Given the description of an element on the screen output the (x, y) to click on. 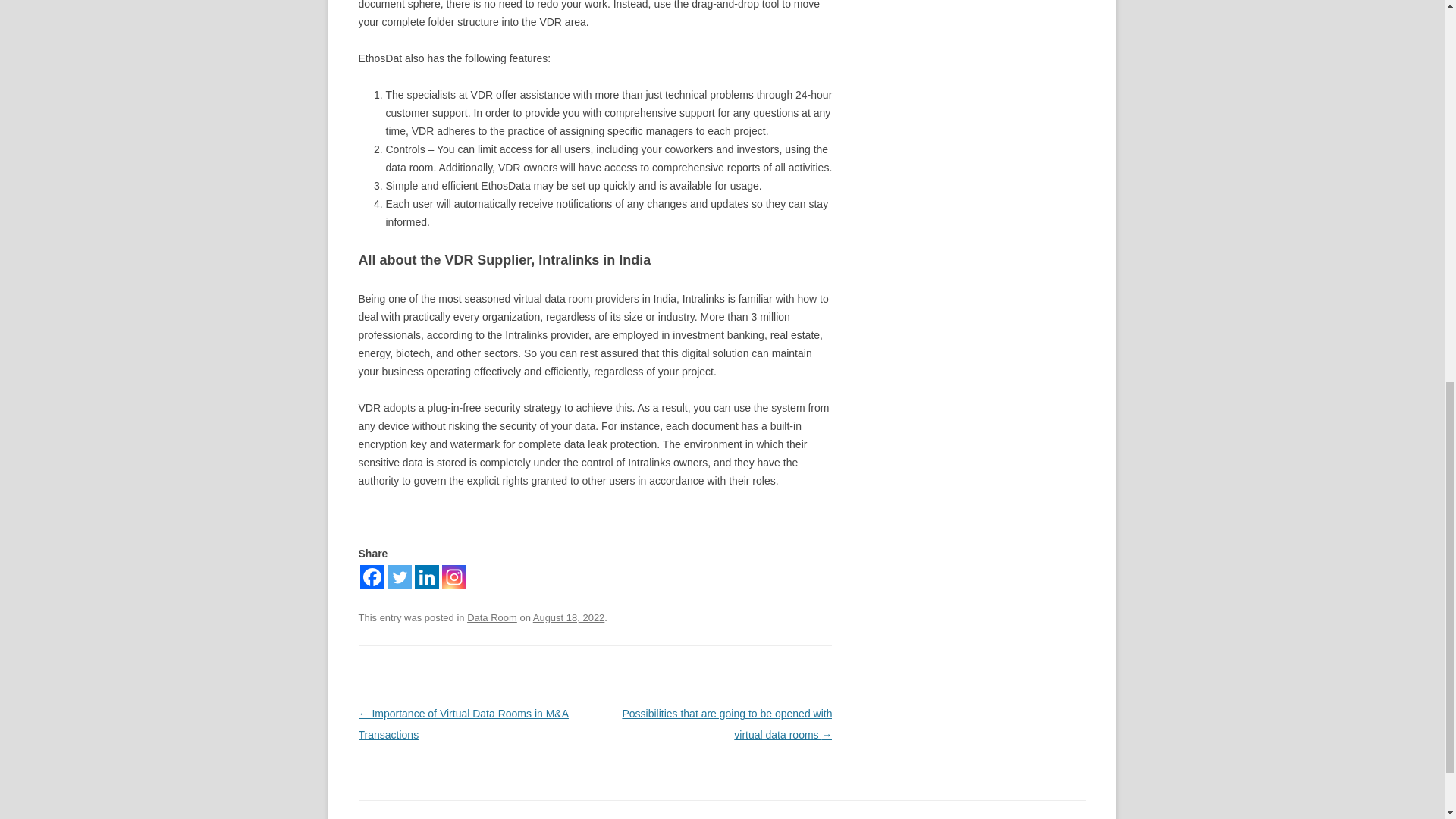
Twitter (398, 576)
Facebook (371, 576)
10:01 pm (568, 617)
Linkedin (425, 576)
August 18, 2022 (568, 617)
Instagram (453, 576)
Data Room (491, 617)
